Given the description of an element on the screen output the (x, y) to click on. 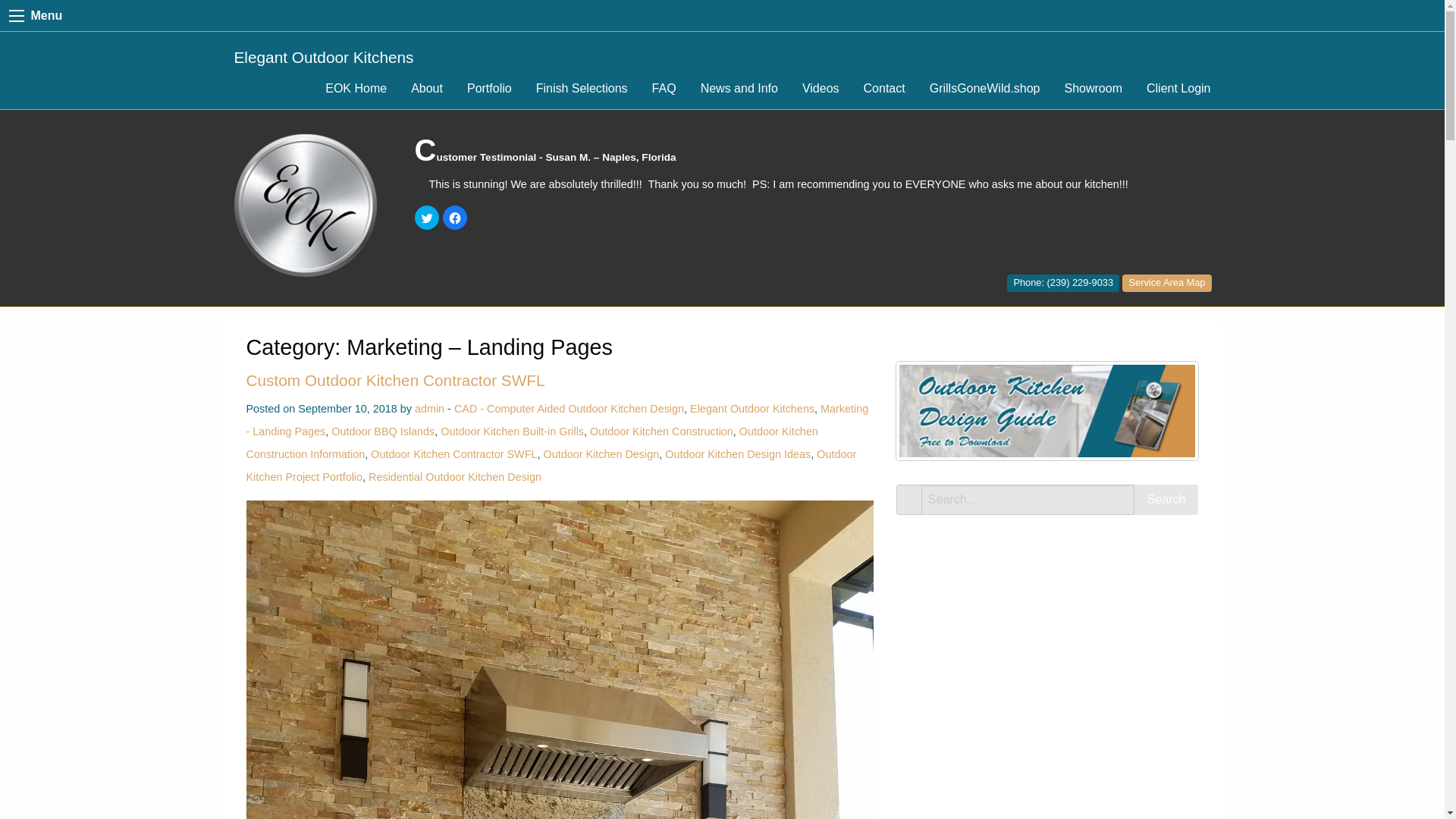
Elegant Outdoor Kitchens (304, 204)
Elegant Outdoor Kitchens (323, 57)
Custom Outdoor Kitchen Contractor SWFL (395, 380)
Contact Elegant Outdoor Kitchens of Fort Myers, Florida (1063, 282)
Service Area Map (1166, 282)
News and Info (739, 88)
About (426, 88)
Click to share on Twitter (426, 217)
Click to share on Facebook (454, 217)
Videos (820, 88)
